Given the description of an element on the screen output the (x, y) to click on. 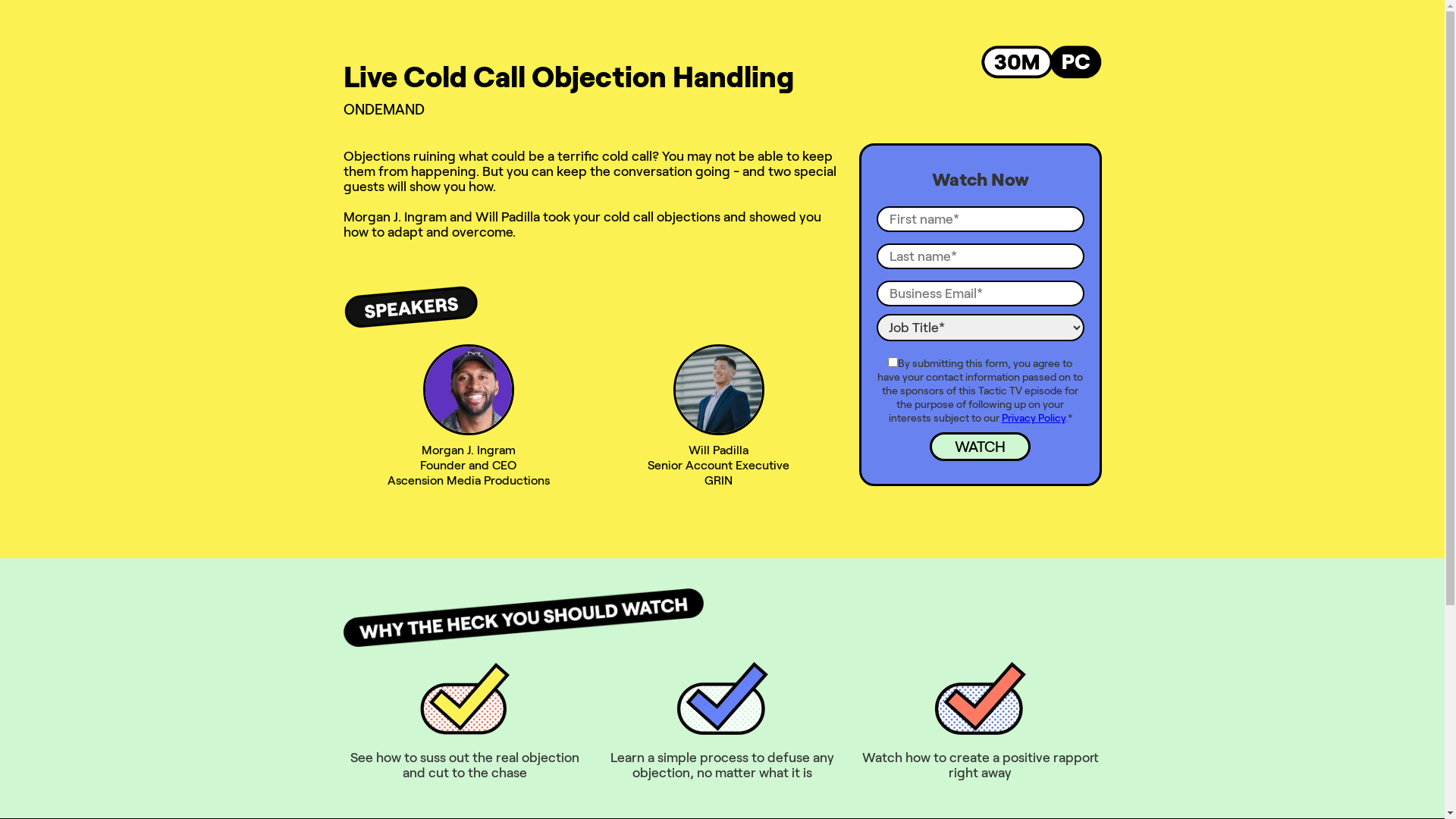
WATCH Element type: text (979, 446)
will Element type: hover (718, 389)
Privacy Policy Element type: text (1032, 417)
